Given the description of an element on the screen output the (x, y) to click on. 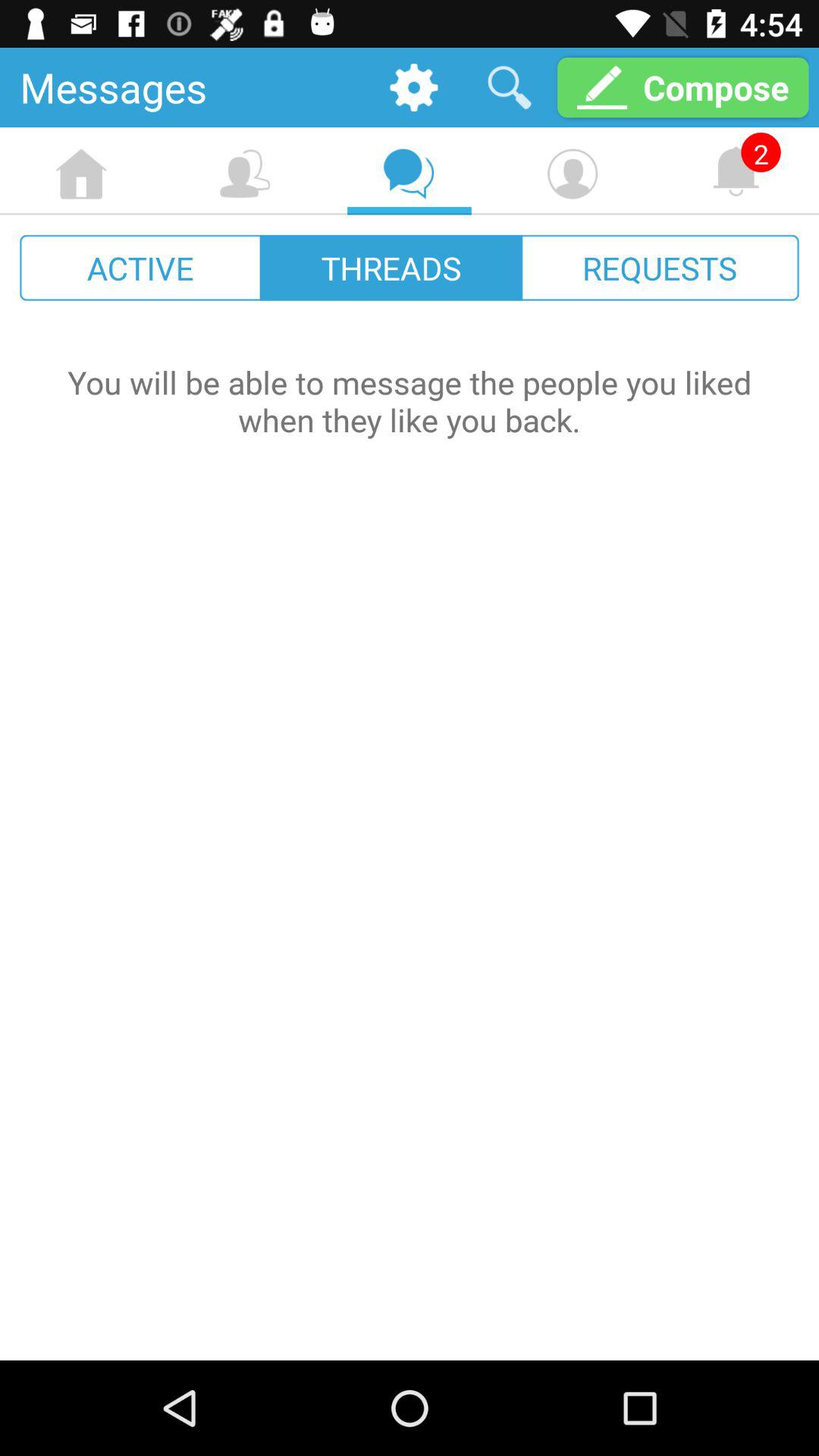
select icon next to threads icon (140, 267)
